Given the description of an element on the screen output the (x, y) to click on. 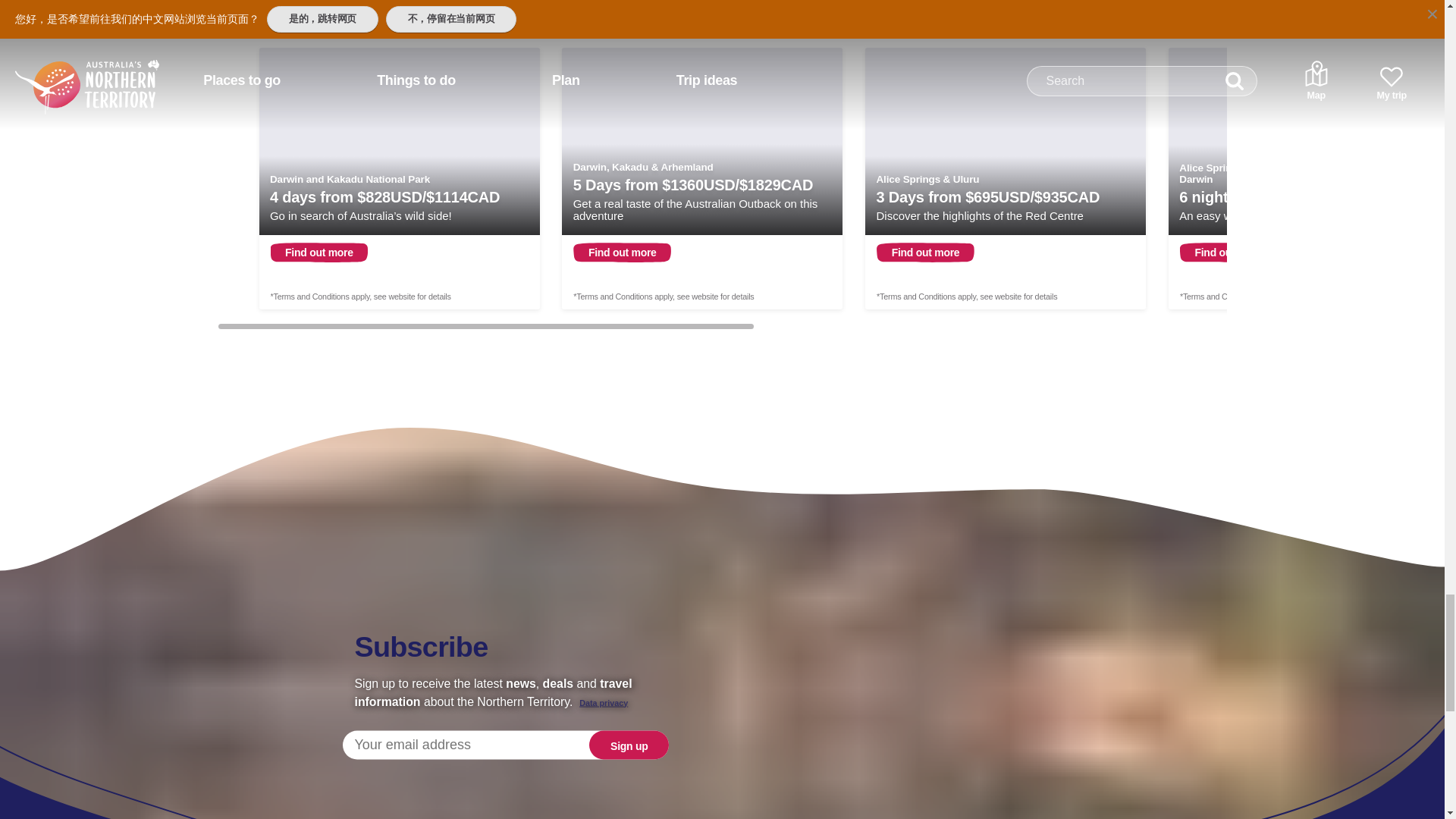
Opens in a new window (399, 178)
Opens in a new window (1004, 178)
Opens in a new window (702, 178)
